Given the description of an element on the screen output the (x, y) to click on. 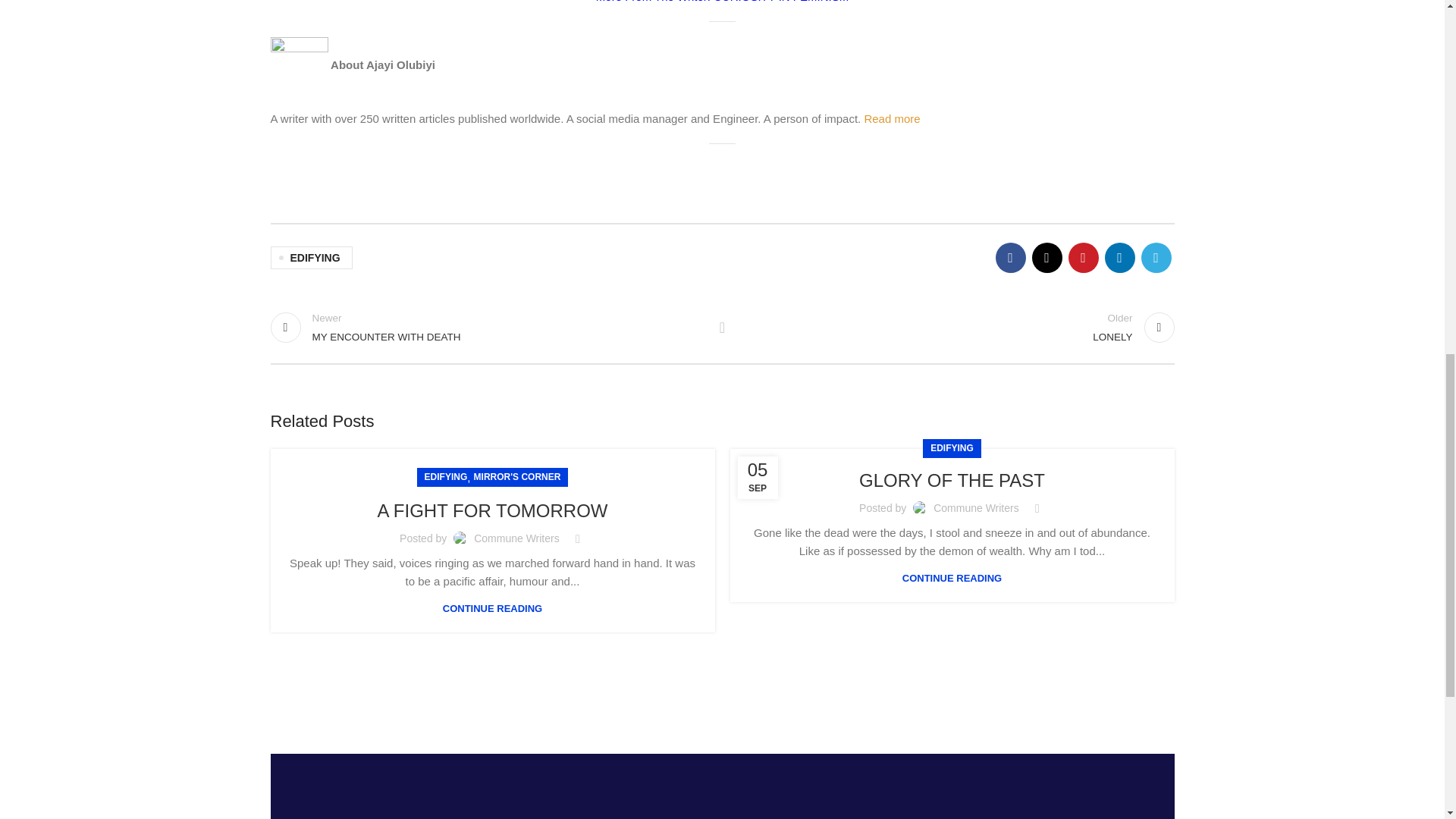
More From The Writer: CURIOSITY IN FEMINISM (488, 327)
Back to list (721, 1)
EDIFYING (721, 327)
EDIFYING (446, 476)
A FIGHT FOR TOMORROW (310, 257)
MIRROR'S CORNER (492, 510)
Read more (517, 476)
